Given the description of an element on the screen output the (x, y) to click on. 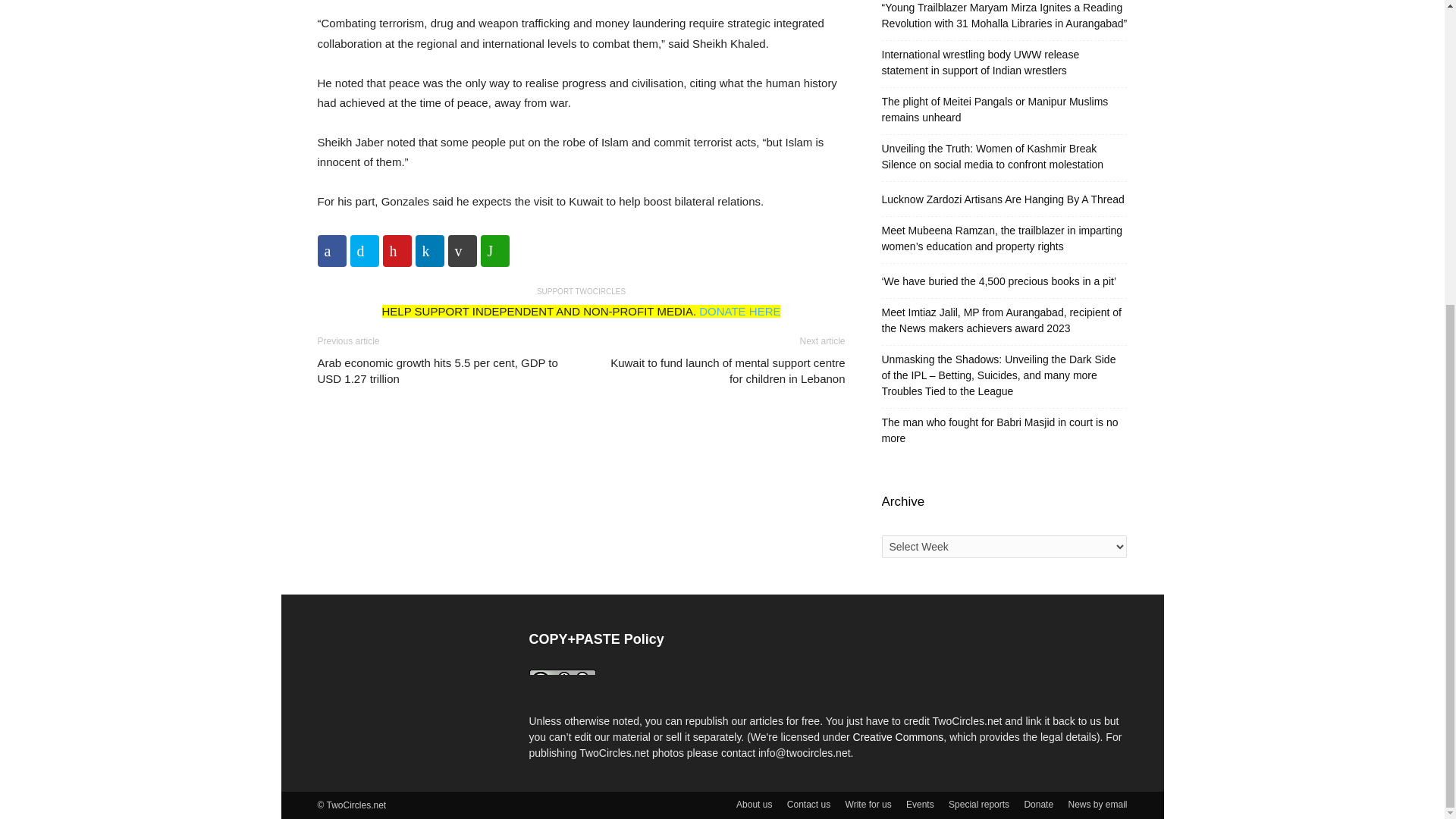
Share on Twitter (364, 250)
Share on WhatsApp (494, 250)
Share on Pinterest (395, 250)
Share on LinkedIn (429, 250)
Share on Facebook (331, 250)
Share on Email (461, 250)
